Given the description of an element on the screen output the (x, y) to click on. 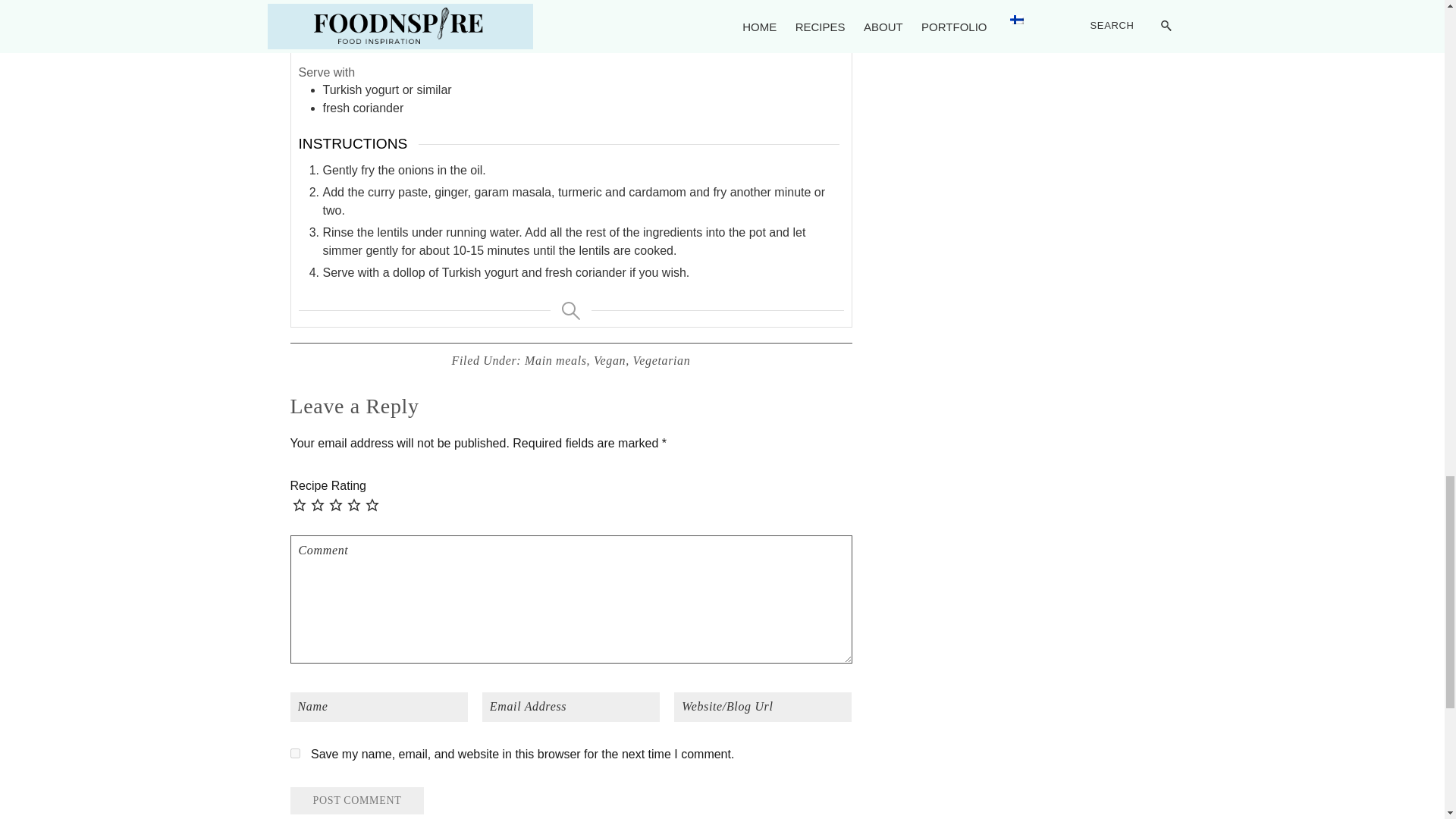
Vegetarian (661, 359)
Vegan (610, 359)
Post Comment (356, 800)
Post Comment (356, 800)
yes (294, 753)
Main meals (555, 359)
